Given the description of an element on the screen output the (x, y) to click on. 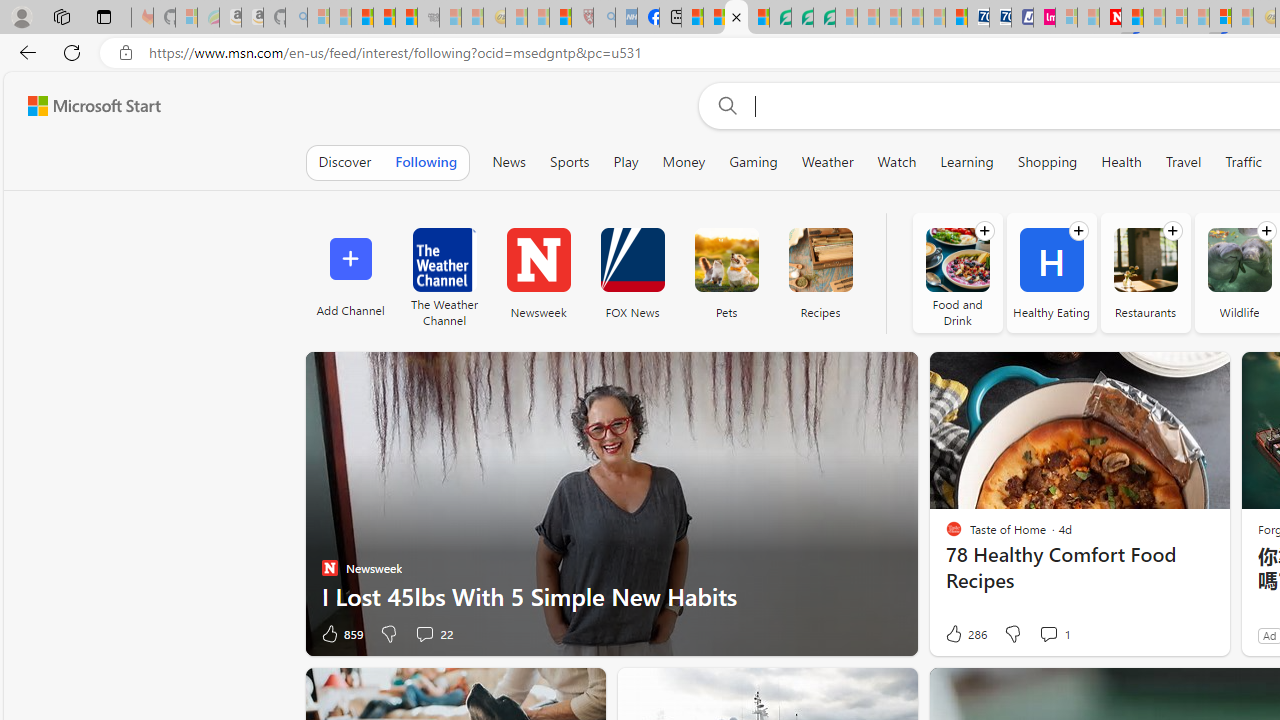
Add Channel (349, 272)
View comments 22 Comment (424, 633)
